Given the description of an element on the screen output the (x, y) to click on. 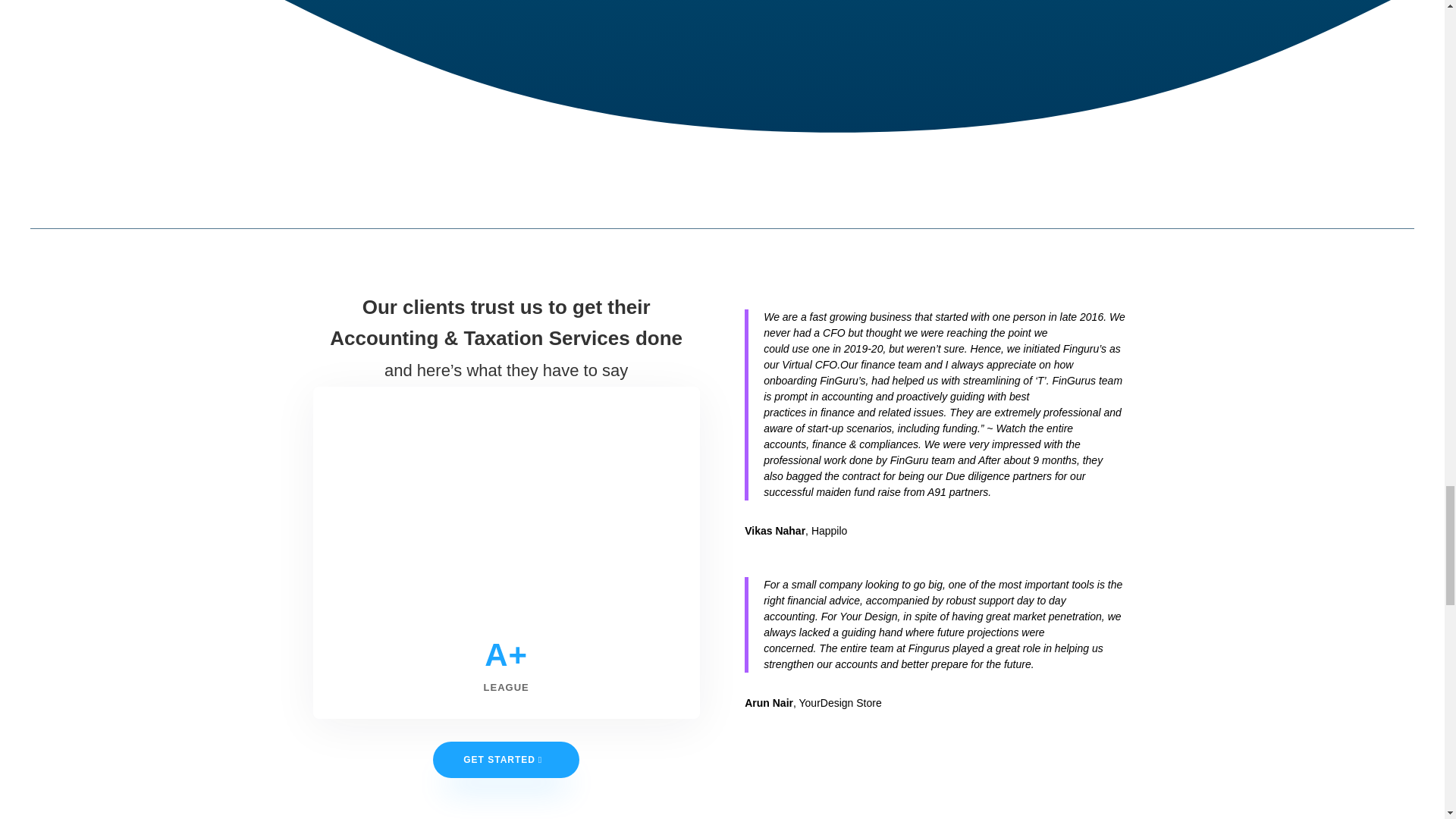
GET STARTED (505, 760)
